Given the description of an element on the screen output the (x, y) to click on. 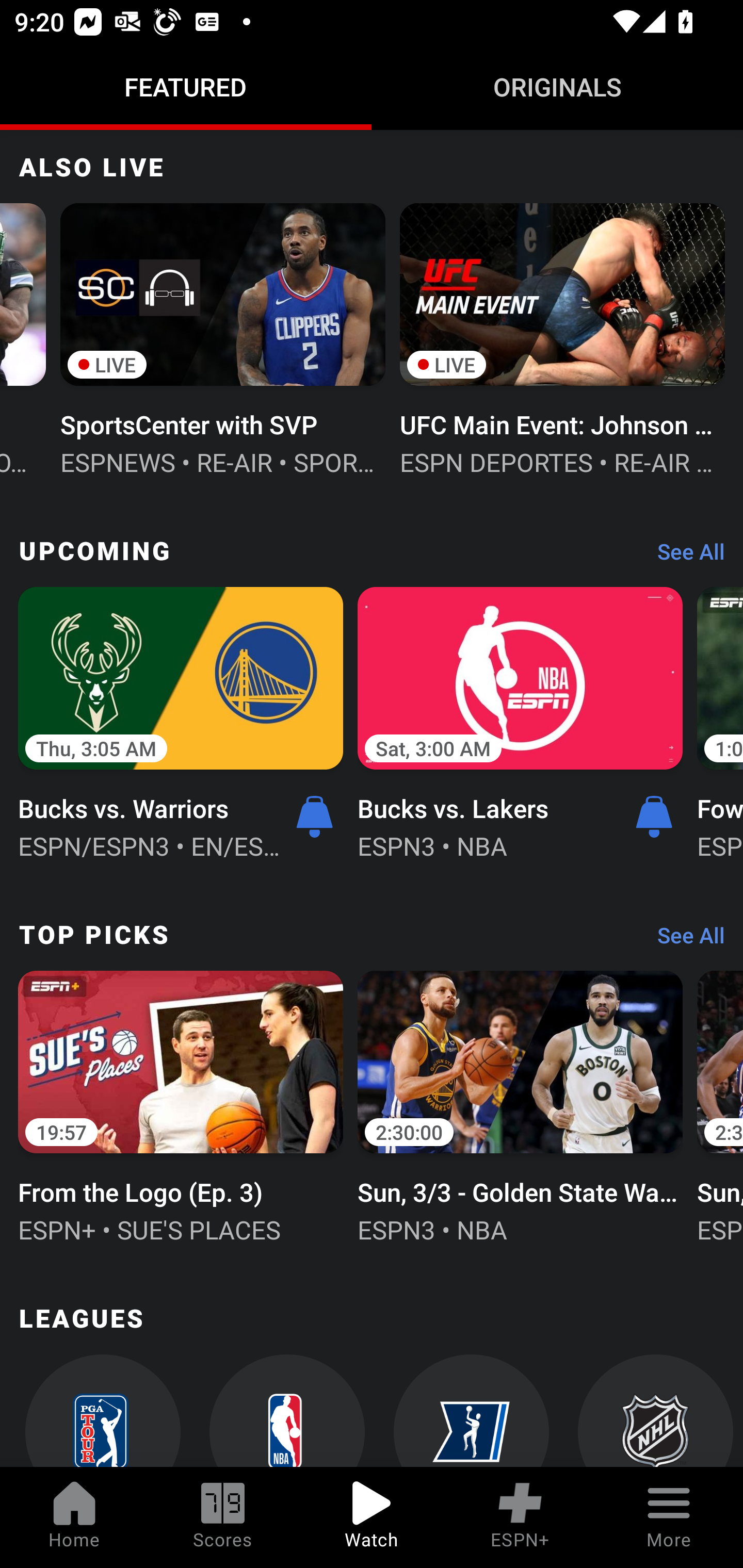
Originals ORIGINALS (557, 86)
See All (683, 556)
See All (683, 939)
19:57 From the Logo (Ep. 3) ESPN+ • SUE'S PLACES (180, 1104)
Home (74, 1517)
Scores (222, 1517)
ESPN+ (519, 1517)
More (668, 1517)
